Given the description of an element on the screen output the (x, y) to click on. 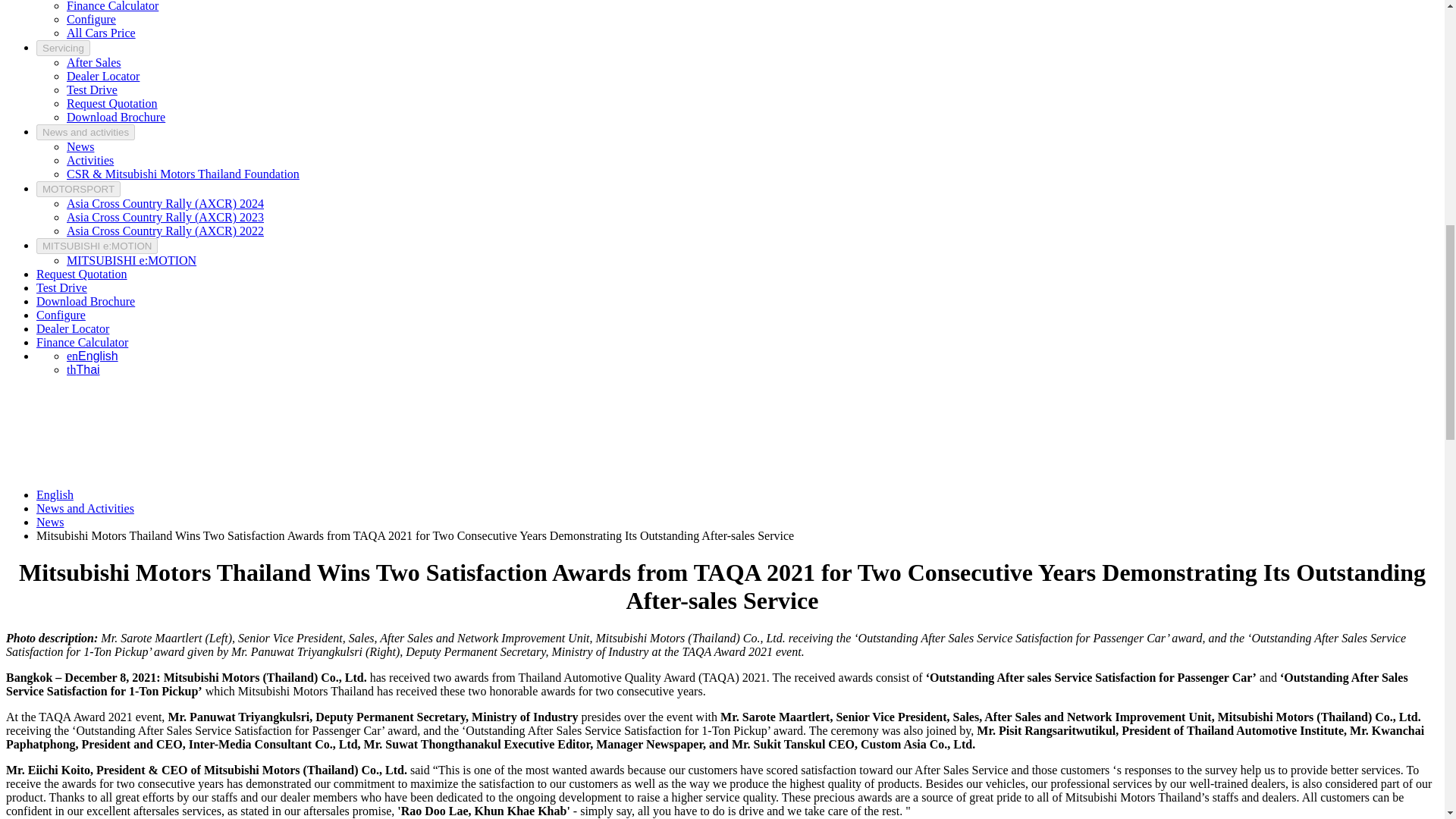
Request Quotation (82, 273)
Configure (91, 19)
Download Brochure (115, 116)
After Sales (93, 62)
Test Drive (91, 89)
News and activities (85, 132)
MITSUBISHI e:MOTION (131, 259)
Activities (89, 160)
Dealer Locator (102, 75)
MITSUBISHI e:MOTION (96, 245)
